Given the description of an element on the screen output the (x, y) to click on. 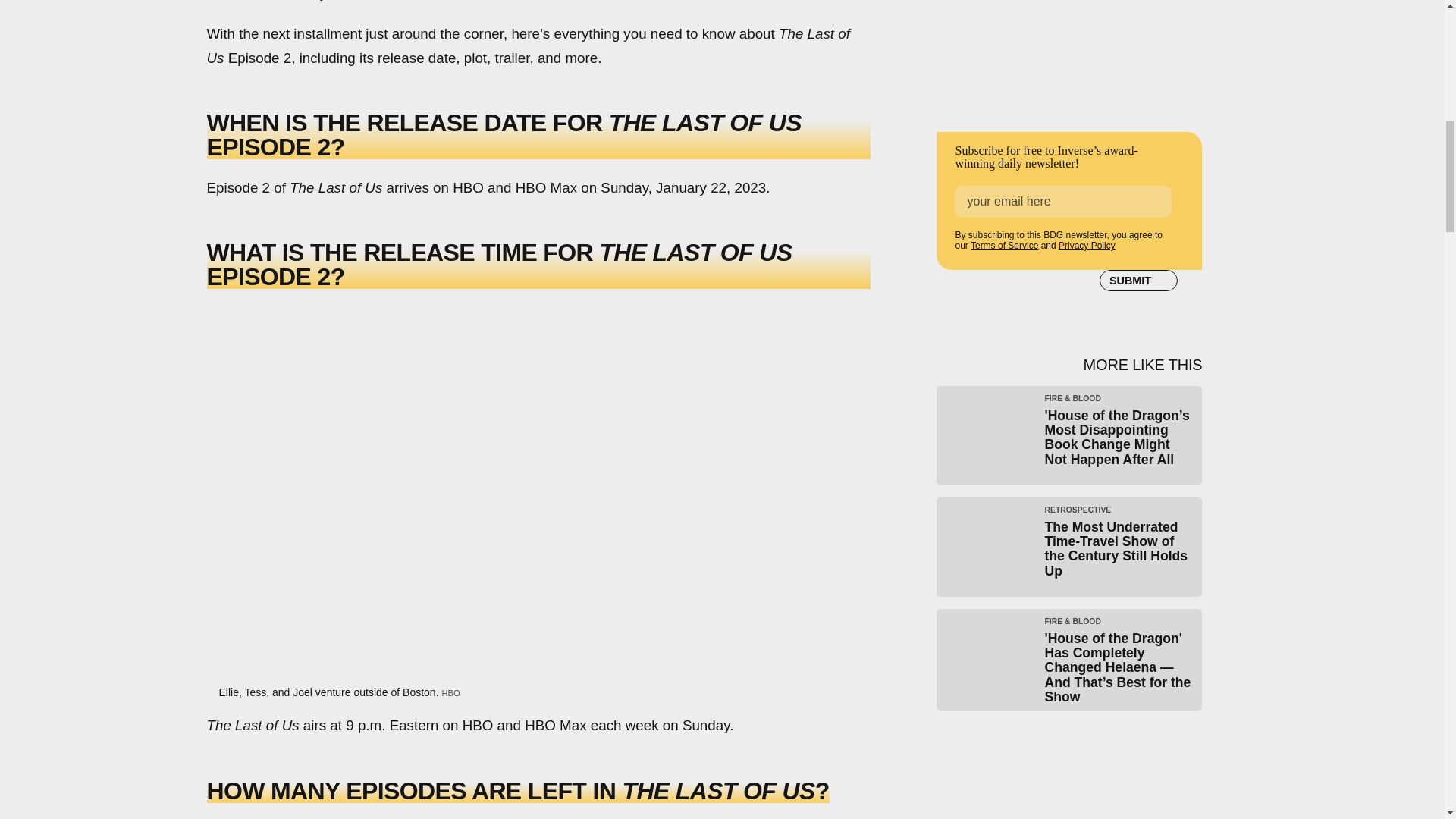
Privacy Policy (1086, 245)
SUBMIT (1138, 280)
Terms of Service (1004, 245)
